Given the description of an element on the screen output the (x, y) to click on. 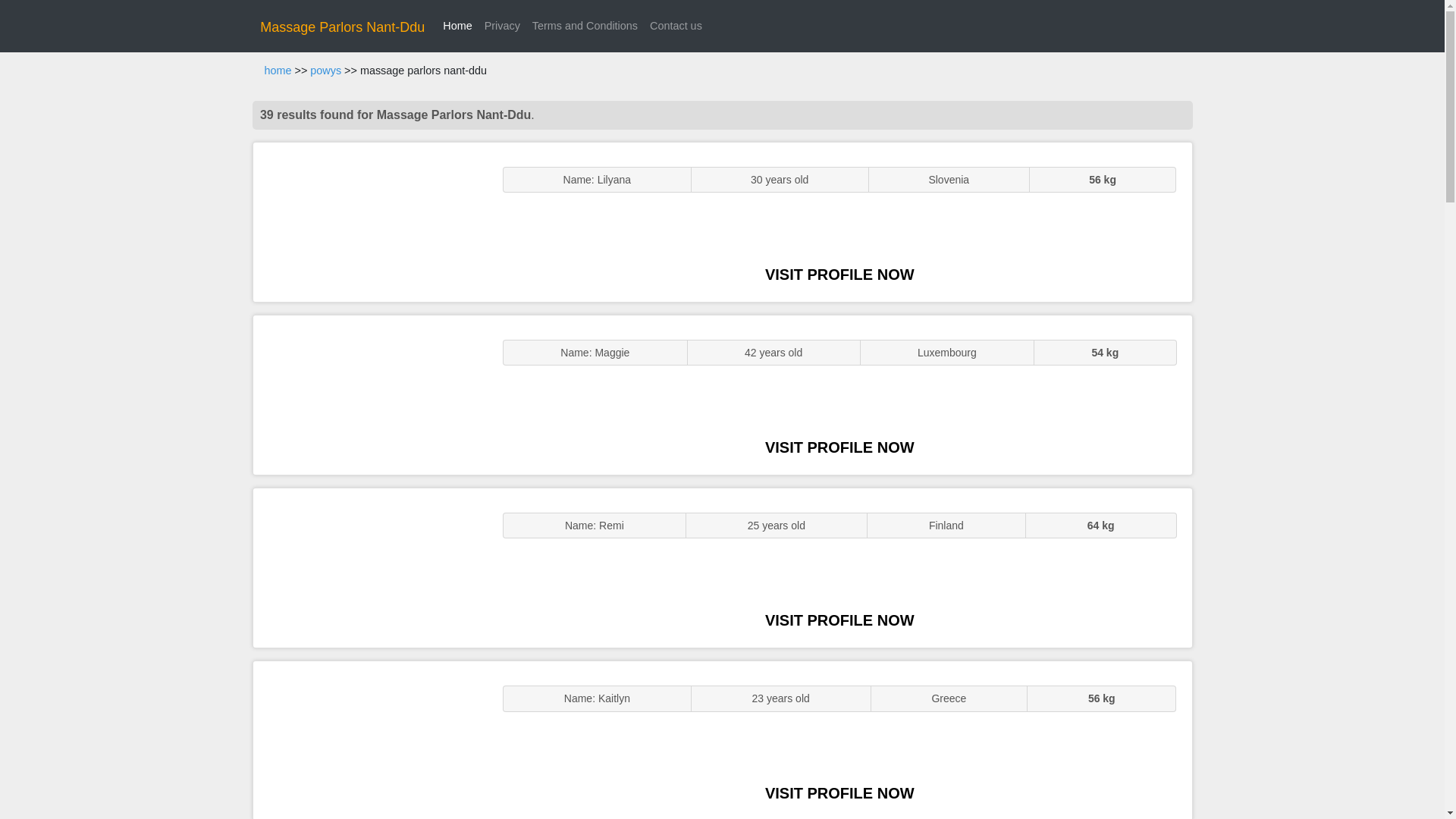
Privacy (502, 25)
VISIT PROFILE NOW (839, 792)
 ENGLISH STUNNER (370, 222)
VISIT PROFILE NOW (839, 619)
powys (325, 70)
VISIT PROFILE NOW (839, 274)
GFE (370, 395)
Sexy (370, 567)
VISIT PROFILE NOW (839, 446)
Sluts (370, 739)
